Given the description of an element on the screen output the (x, y) to click on. 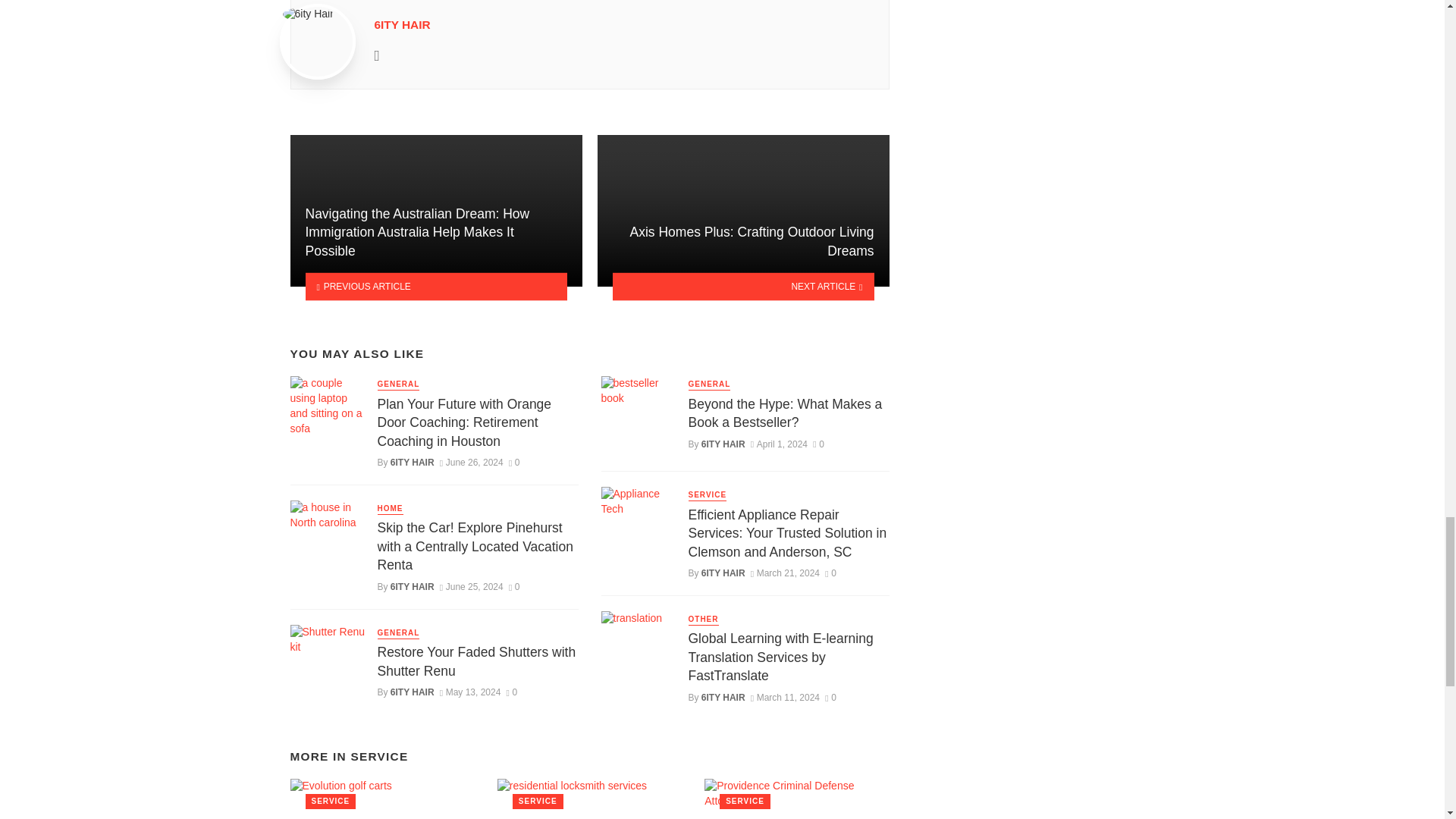
0 Comments (818, 443)
April 1, 2024 at 9:53 am (779, 443)
0 Comments (512, 692)
June 25, 2024 at 12:46 pm (471, 586)
GENERAL (398, 633)
0 Comments (513, 586)
NEXT ARTICLE (742, 286)
GENERAL (398, 384)
0 (513, 586)
June 26, 2024 at 5:35 am (471, 462)
